Given the description of an element on the screen output the (x, y) to click on. 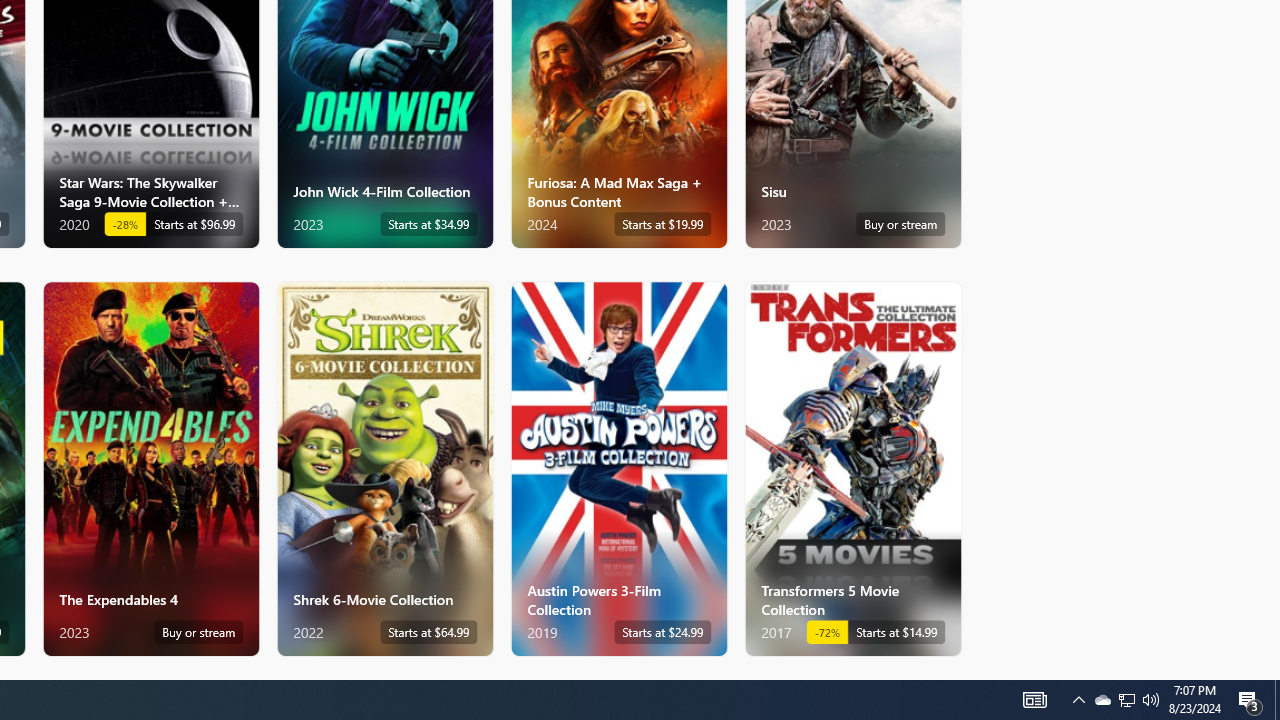
Austin Powers 3-Film Collection. Starts at $24.99   (618, 468)
